Given the description of an element on the screen output the (x, y) to click on. 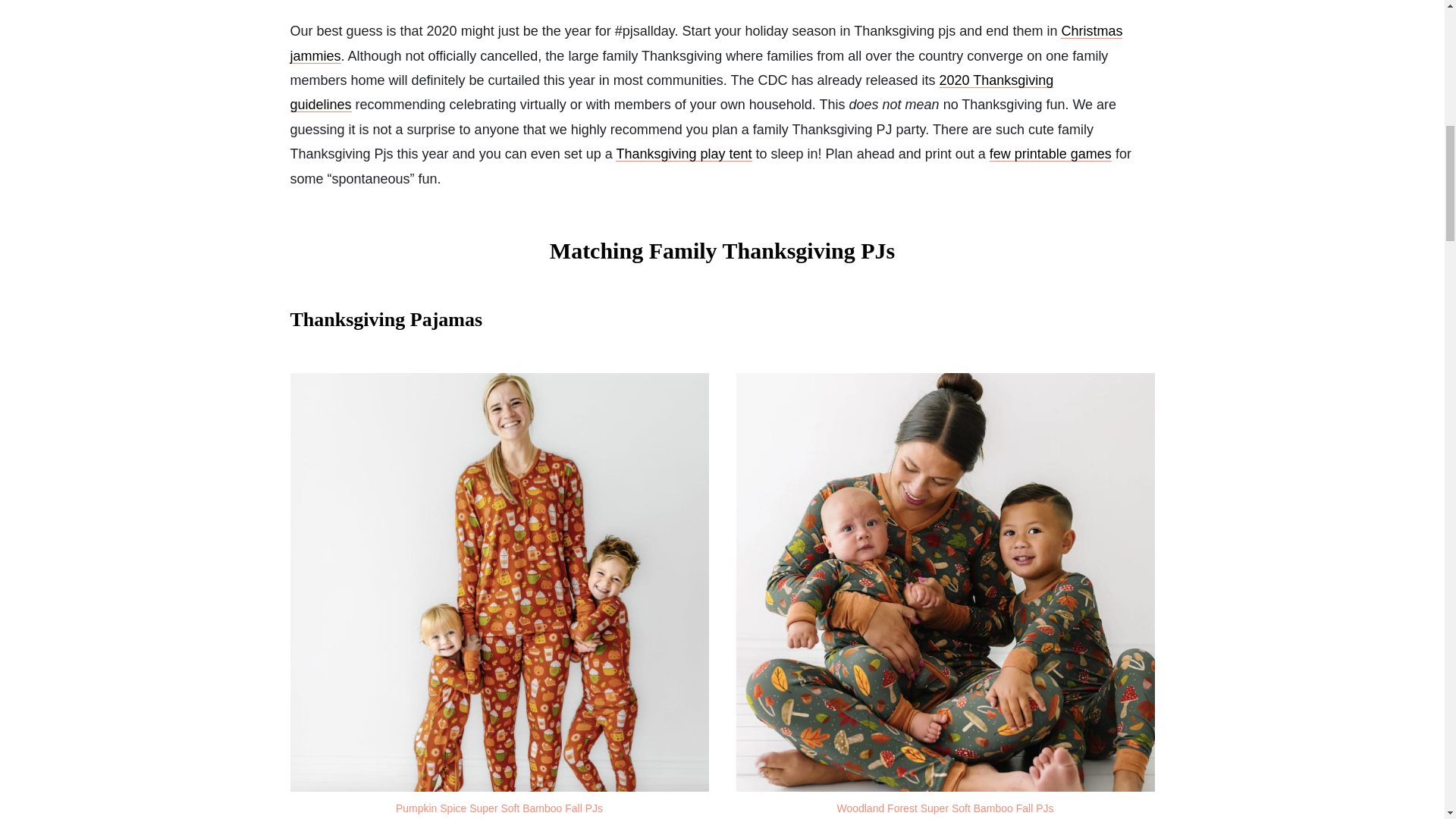
Thanksgiving play tent (683, 153)
few printable games (1051, 153)
Woodland Forest Super Soft Bamboo Fall PJs (943, 808)
Christmas jammies (705, 43)
2020 Thanksgiving guidelines (670, 92)
Pumpkin Spice Super Soft Bamboo Fall PJs (499, 808)
